Given the description of an element on the screen output the (x, y) to click on. 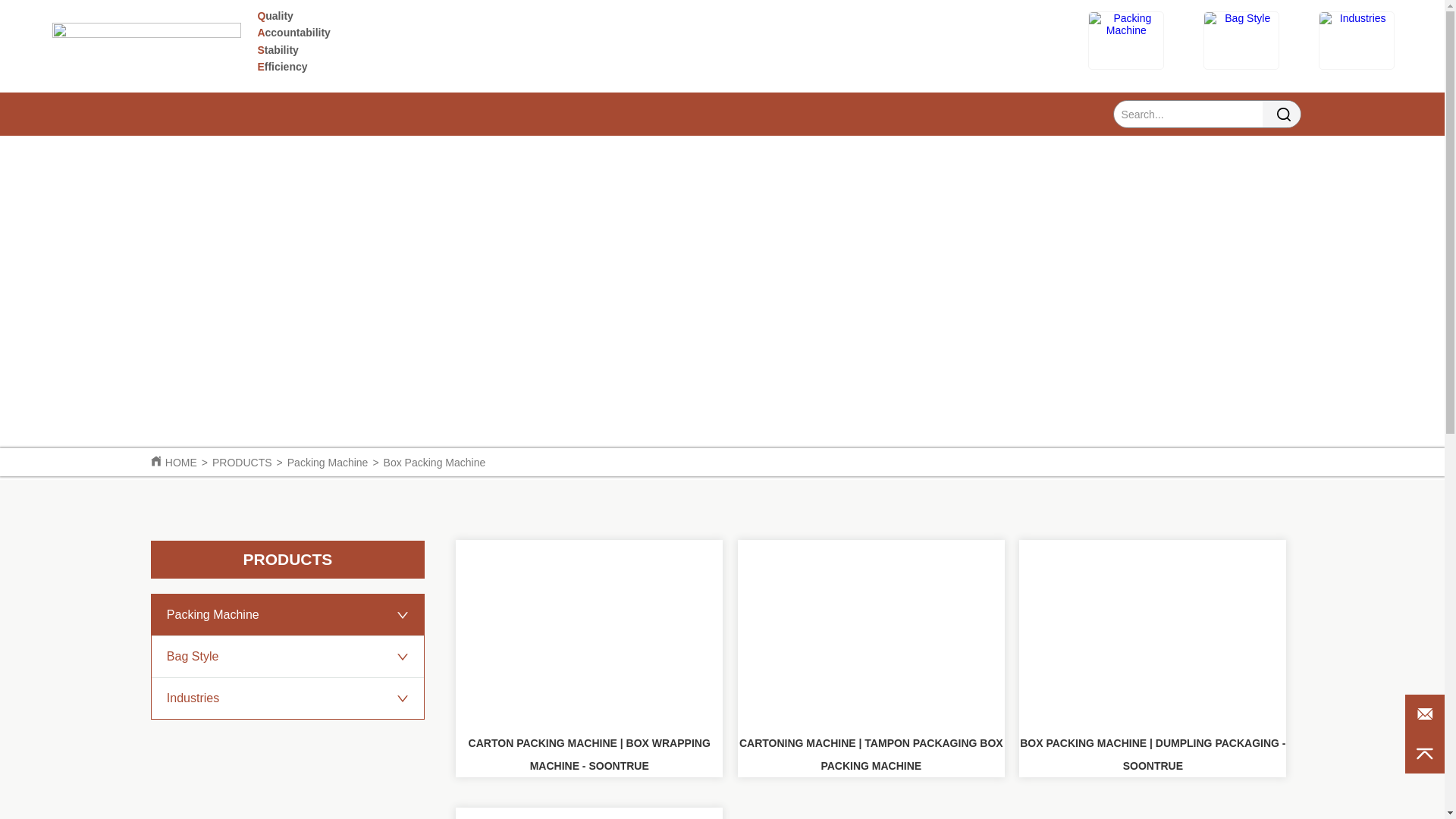
Packing Machine (327, 462)
Box Packing Machine (435, 462)
PRODUCTS (242, 462)
PRODUCTS (288, 559)
HOME (180, 462)
